Given the description of an element on the screen output the (x, y) to click on. 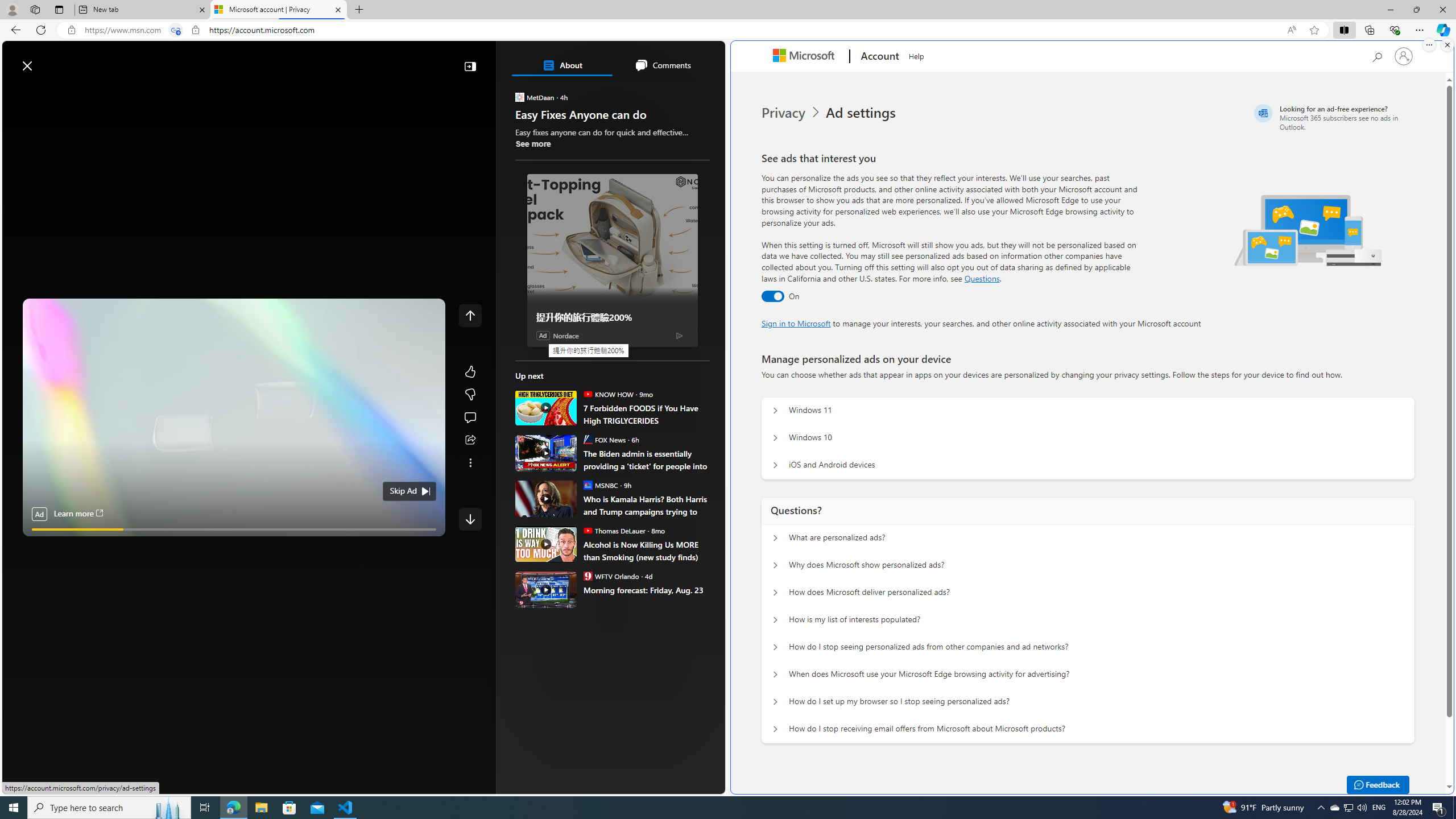
Sign in to your account (1404, 55)
Questions? How does Microsoft deliver personalized ads? (775, 592)
MSNBC MSNBC (600, 484)
Privacy (784, 112)
Privacy (792, 112)
Help (915, 54)
Help (915, 54)
Tabs in split screen (175, 29)
Morning forecast: Friday, Aug. 23 (646, 589)
Manage personalized ads on your device Windows 11 (775, 410)
